Given the description of an element on the screen output the (x, y) to click on. 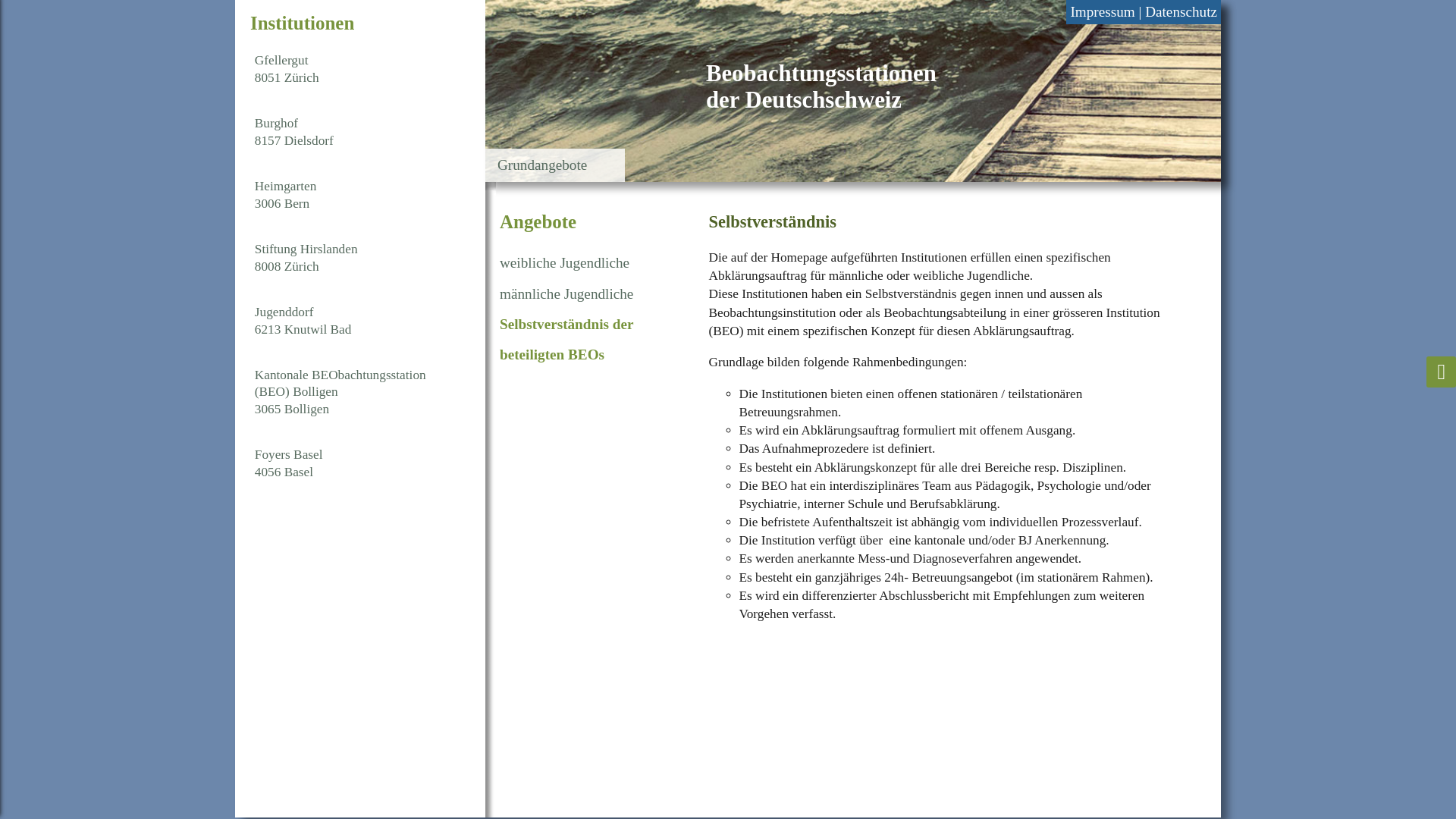
Heimgarten
3006 Bern Element type: text (357, 195)
Foyers Basel
4056 Basel Element type: text (357, 463)
Jugenddorf
6213 Knutwil Bad Element type: text (357, 321)
Grundangebote Element type: text (541, 164)
Kantonale BEObachtungsstation (BEO) Bolligen
3065 Bolligen Element type: text (357, 391)
weibliche Jugendliche Element type: text (564, 262)
Impressum Element type: text (1102, 11)
Datenschutz Element type: text (1181, 11)
Burghof
8157 Dielsdorf Element type: text (357, 132)
